Given the description of an element on the screen output the (x, y) to click on. 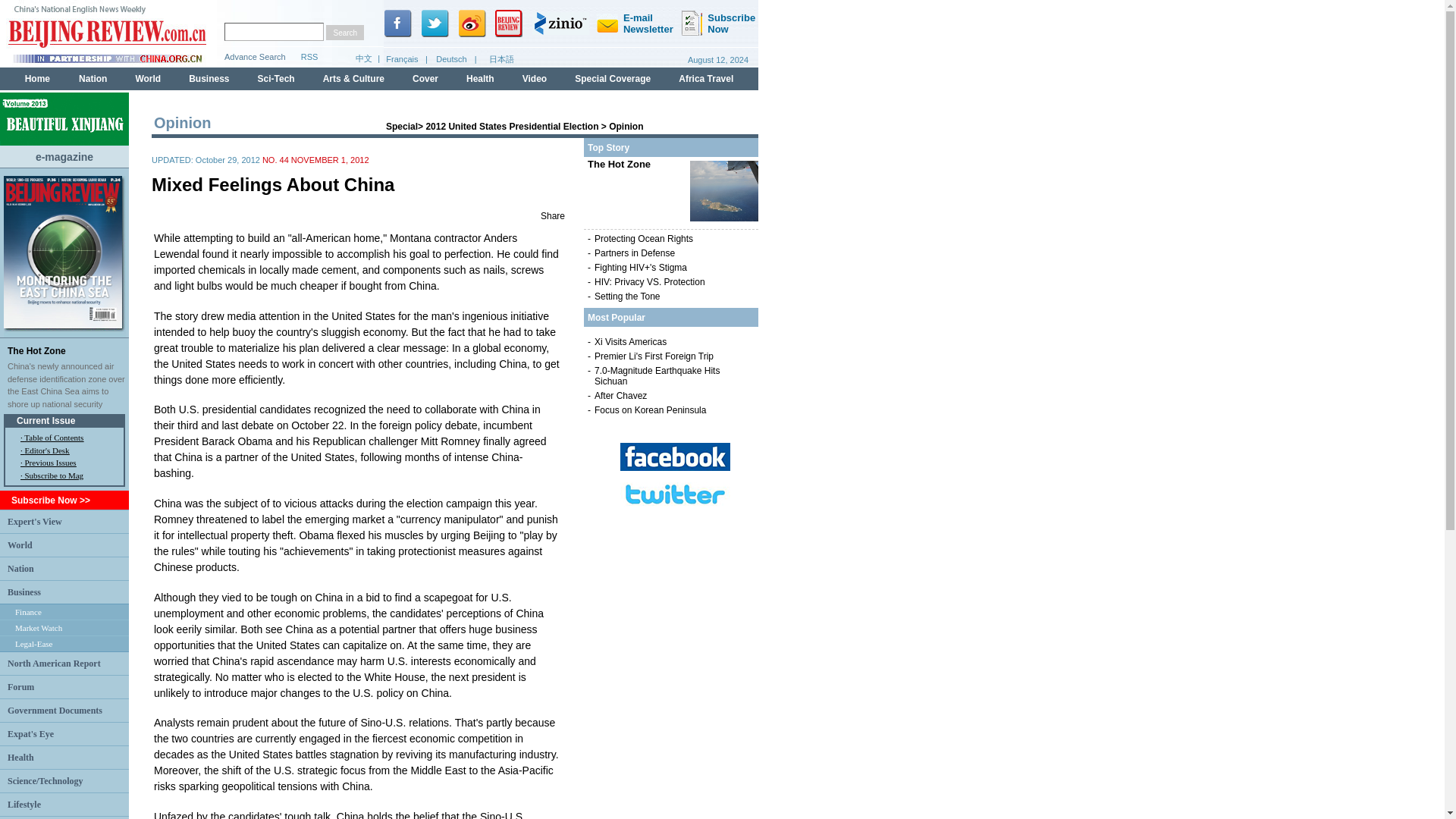
Business (23, 592)
Expat's Eye (30, 733)
Expert's View (34, 520)
Previous Issues (49, 461)
Forum (20, 685)
Finance (28, 611)
World (19, 544)
Nation (20, 567)
Health (20, 757)
